Given the description of an element on the screen output the (x, y) to click on. 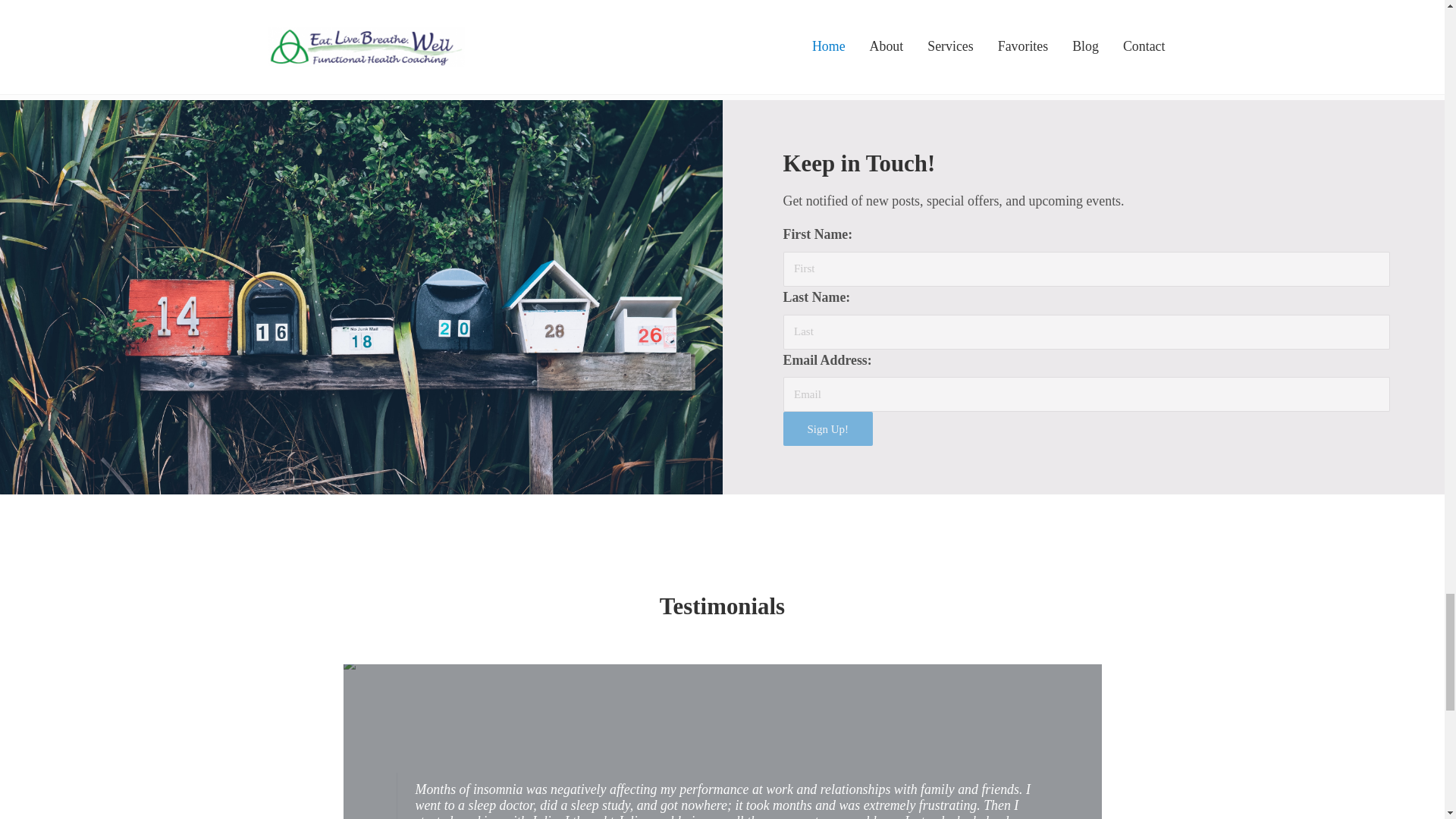
Sign Up! (827, 428)
